Given the description of an element on the screen output the (x, y) to click on. 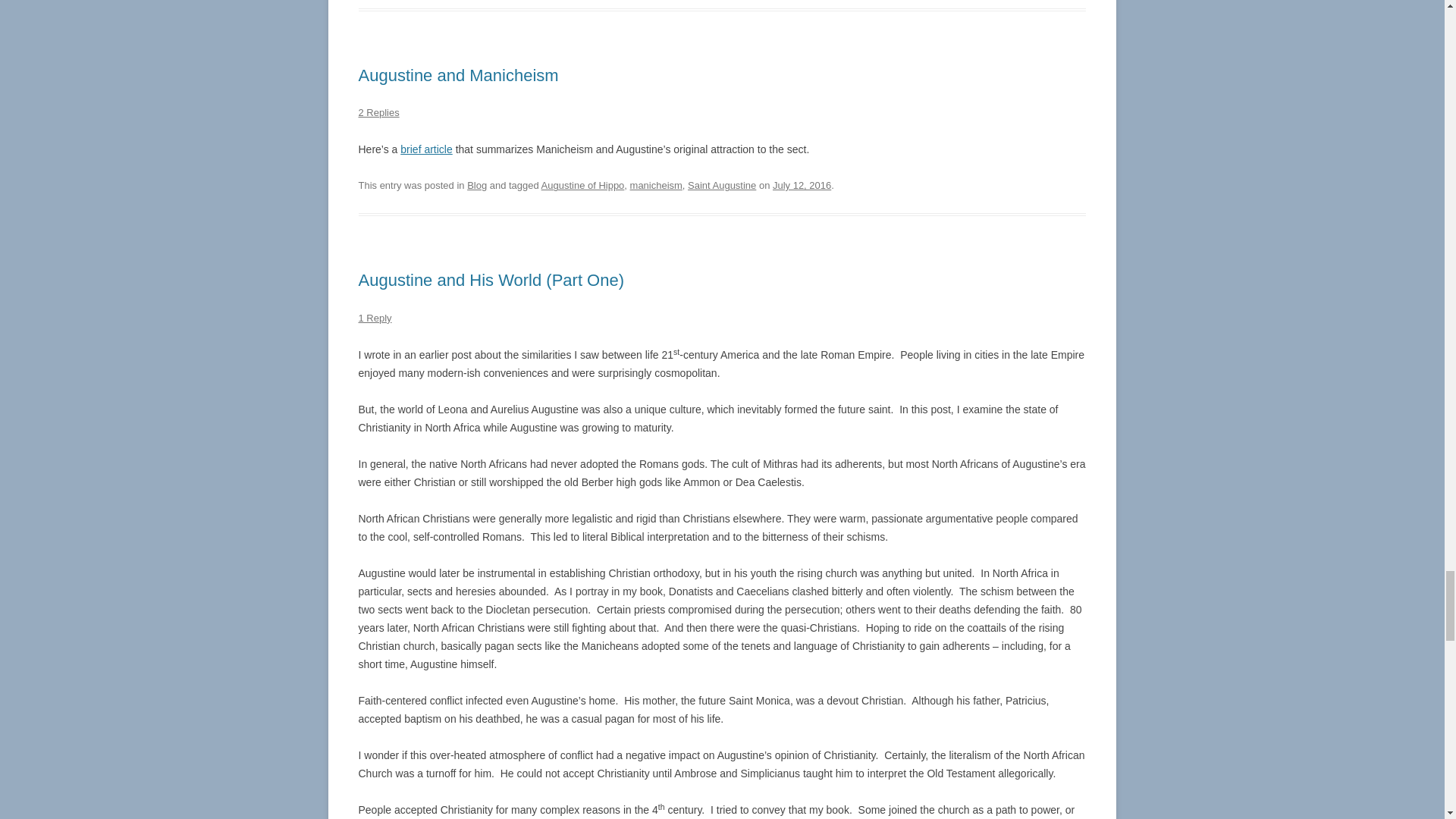
6:26 pm (802, 184)
